Given the description of an element on the screen output the (x, y) to click on. 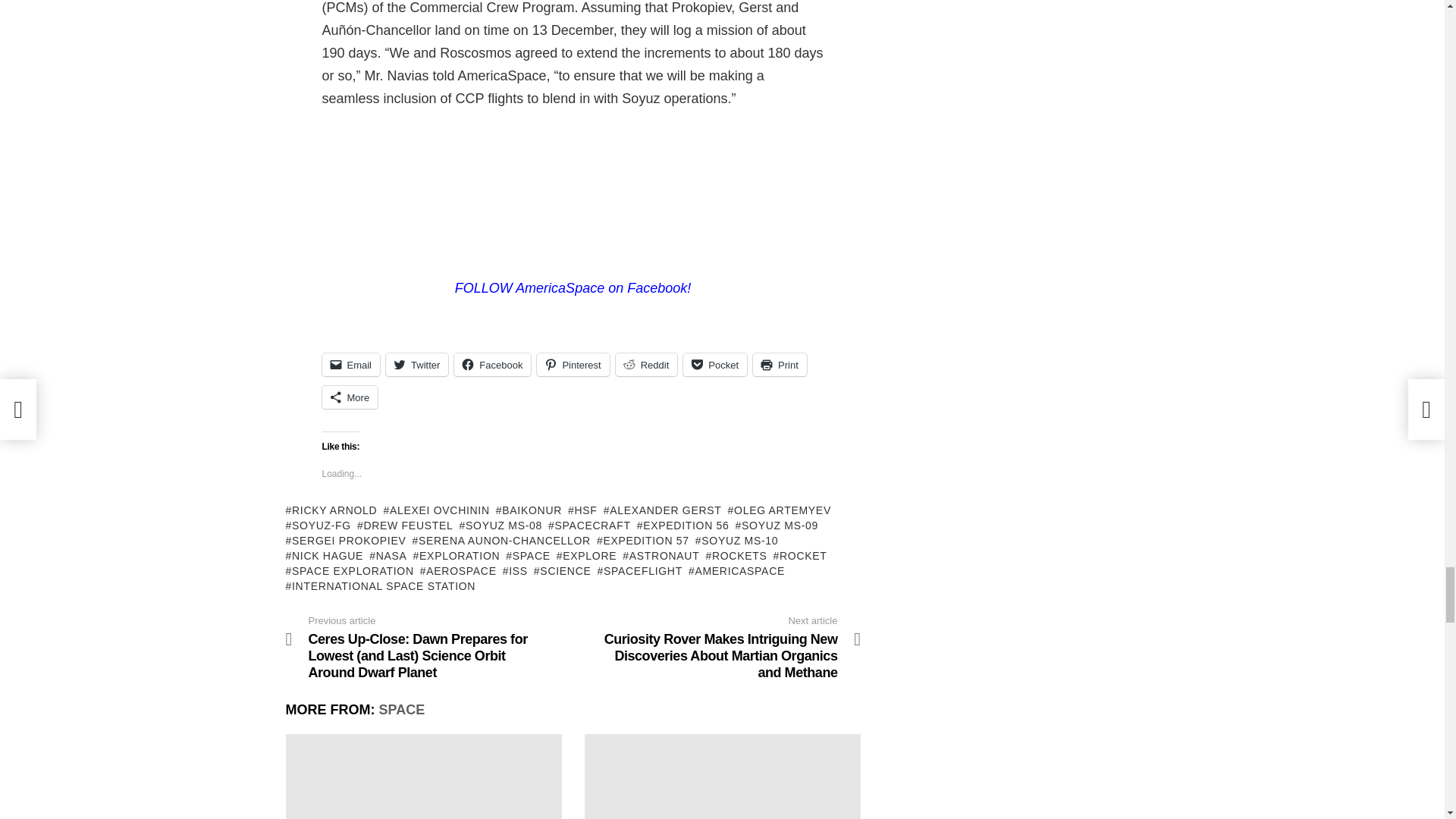
Click to share on Reddit (646, 363)
Click to share on Pinterest (572, 363)
Click to email a link to a friend (350, 363)
Click to share on Facebook (492, 363)
Click to share on Twitter (416, 363)
Click to print (779, 363)
Click to share on Pocket (714, 363)
